Given the description of an element on the screen output the (x, y) to click on. 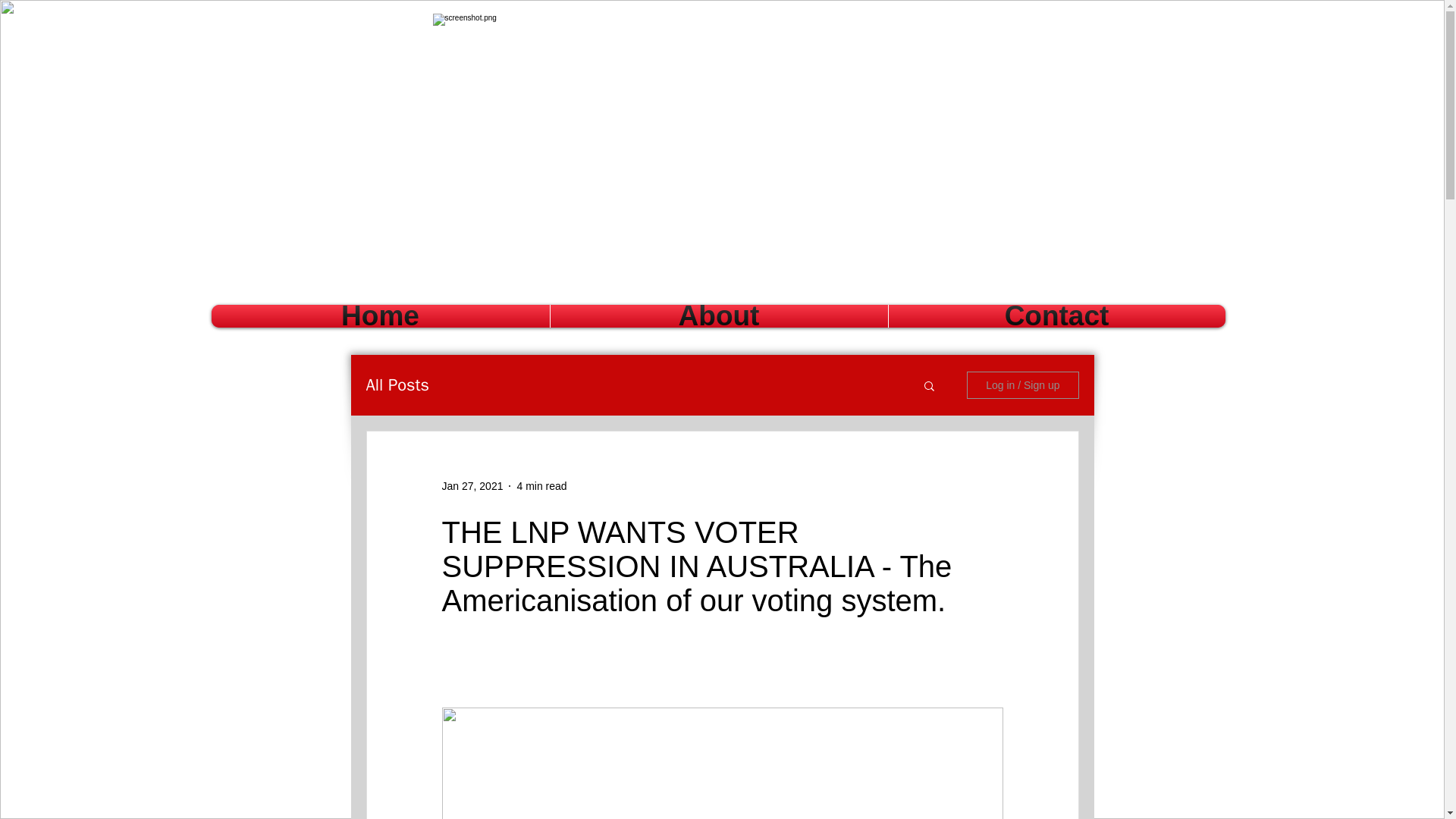
All Posts (397, 384)
Contact (1056, 315)
Jan 27, 2021 (471, 485)
About (718, 315)
4 min read (541, 485)
Home (380, 315)
